Given the description of an element on the screen output the (x, y) to click on. 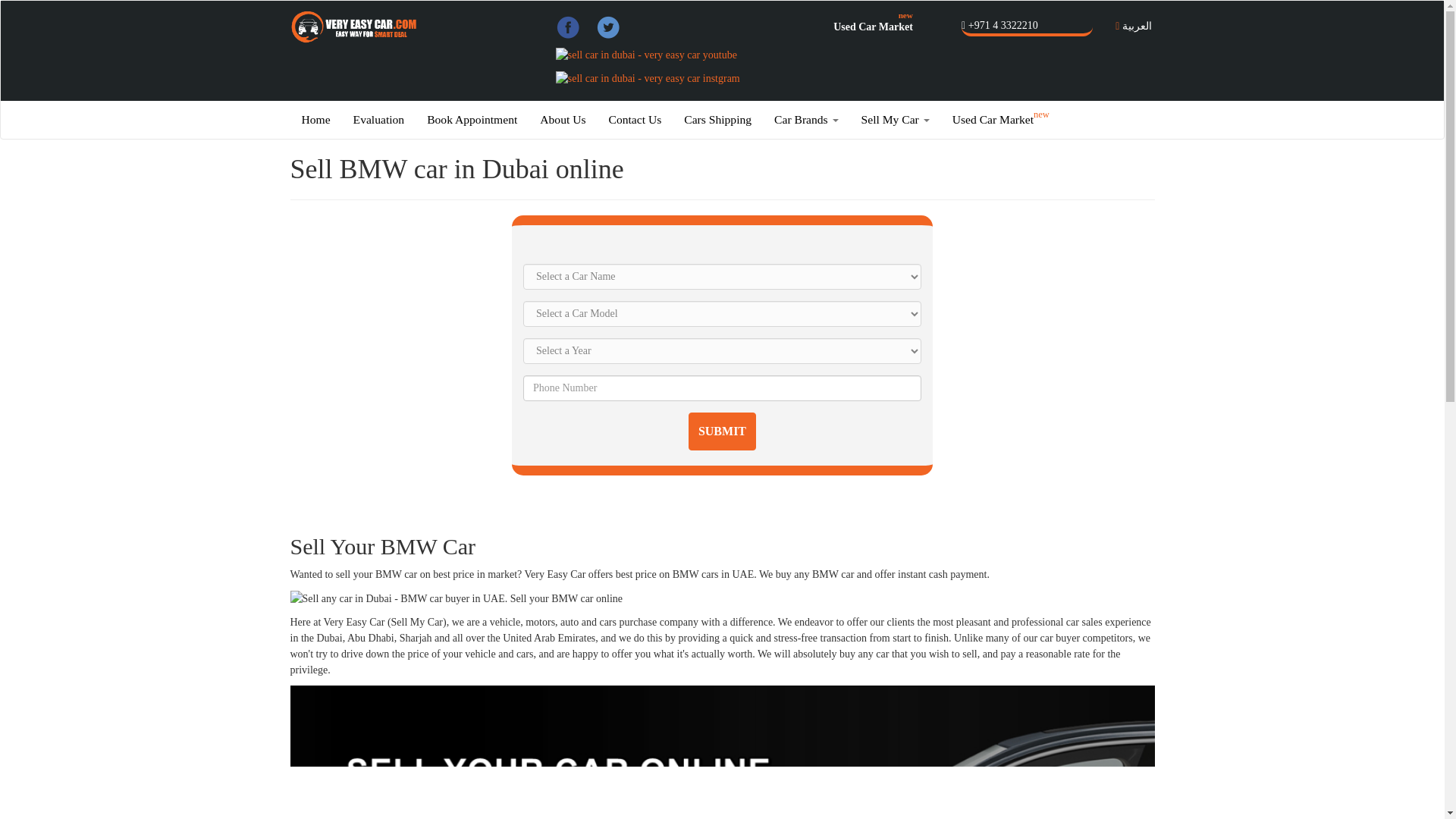
Car Brands (806, 119)
SELL BMW CAR ONLINE (456, 598)
Sell car online in Dubai (721, 752)
Contact Us (634, 119)
Book Appointment (471, 119)
Cars Shipping (717, 119)
Home (314, 119)
Evaluation (379, 119)
About Us (562, 119)
